Given the description of an element on the screen output the (x, y) to click on. 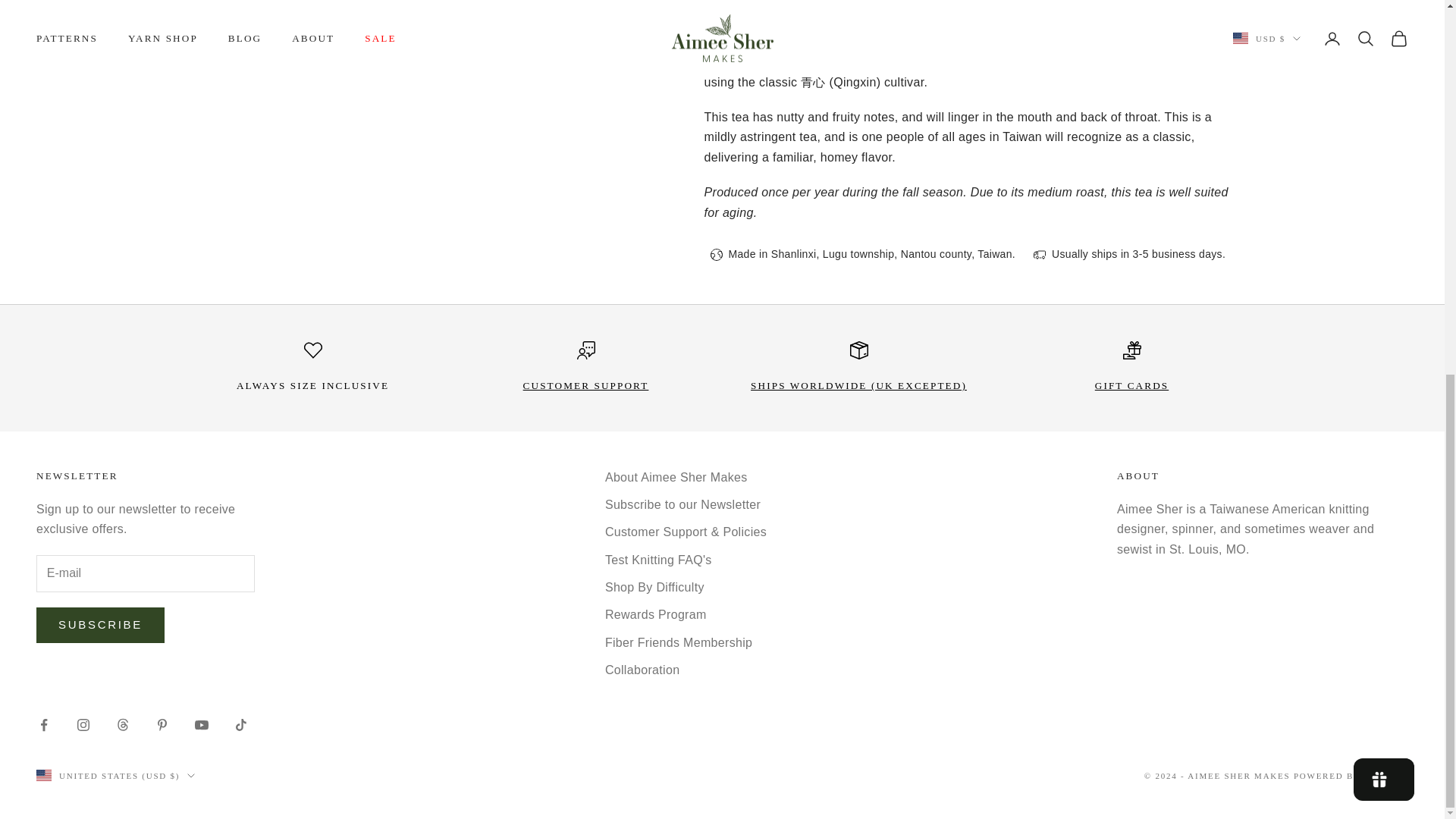
Gift Card to Aimee Sher Makes (1131, 385)
Customer Service (585, 385)
